Given the description of an element on the screen output the (x, y) to click on. 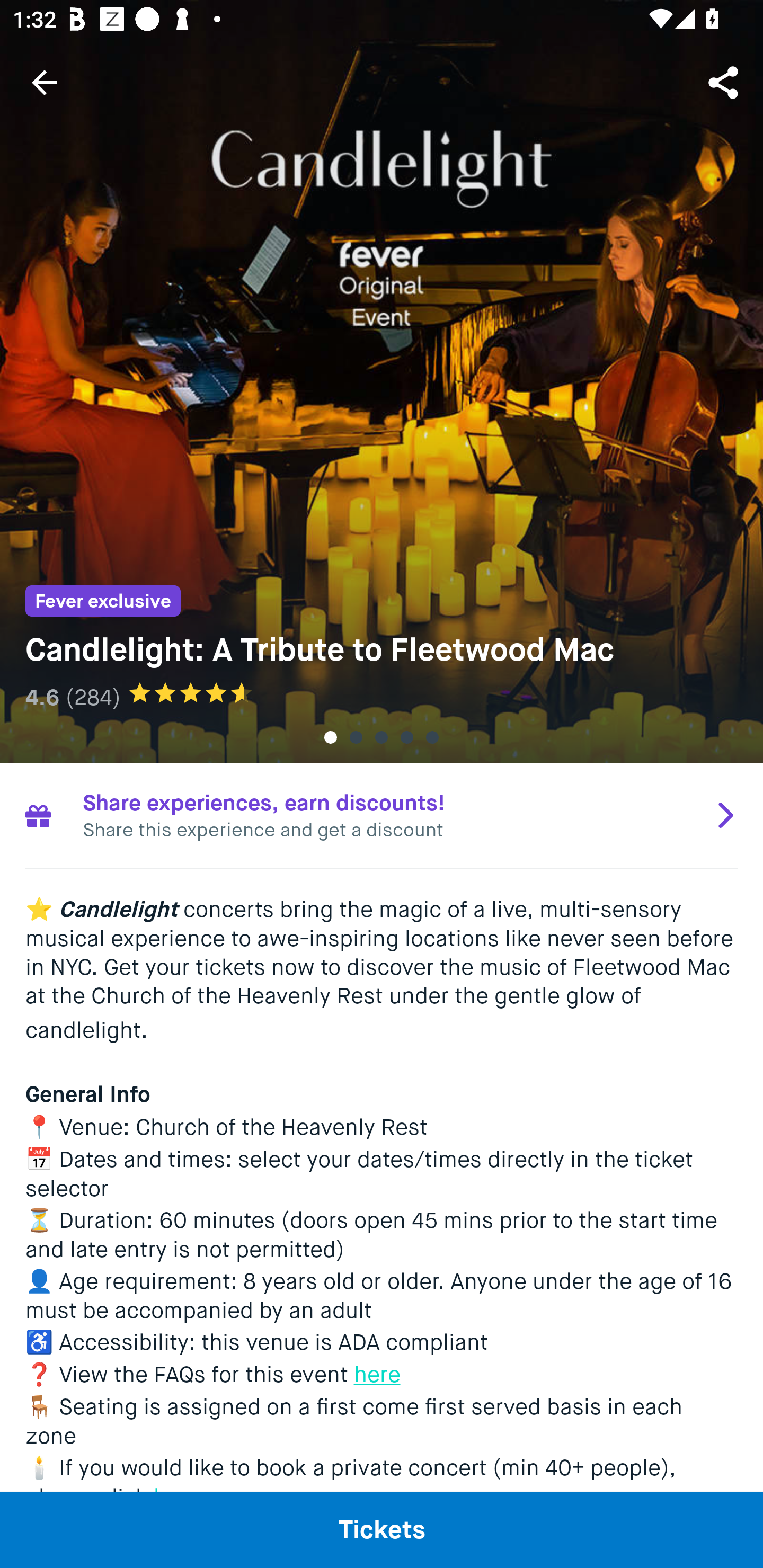
Navigate up (44, 82)
Share (724, 81)
(284) (92, 697)
Tickets (381, 1529)
